Given the description of an element on the screen output the (x, y) to click on. 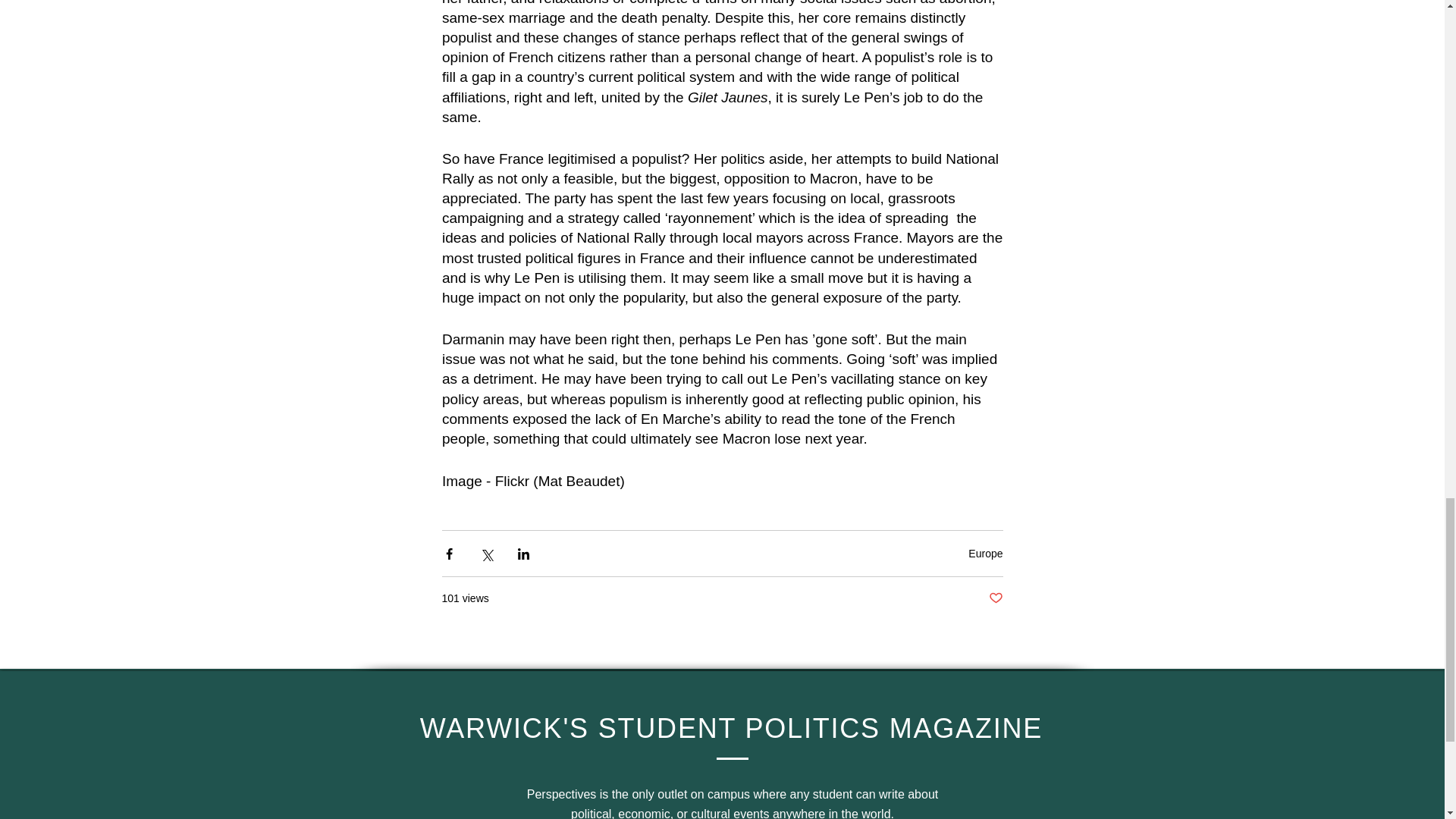
Post not marked as liked (995, 598)
Europe (985, 553)
